Given the description of an element on the screen output the (x, y) to click on. 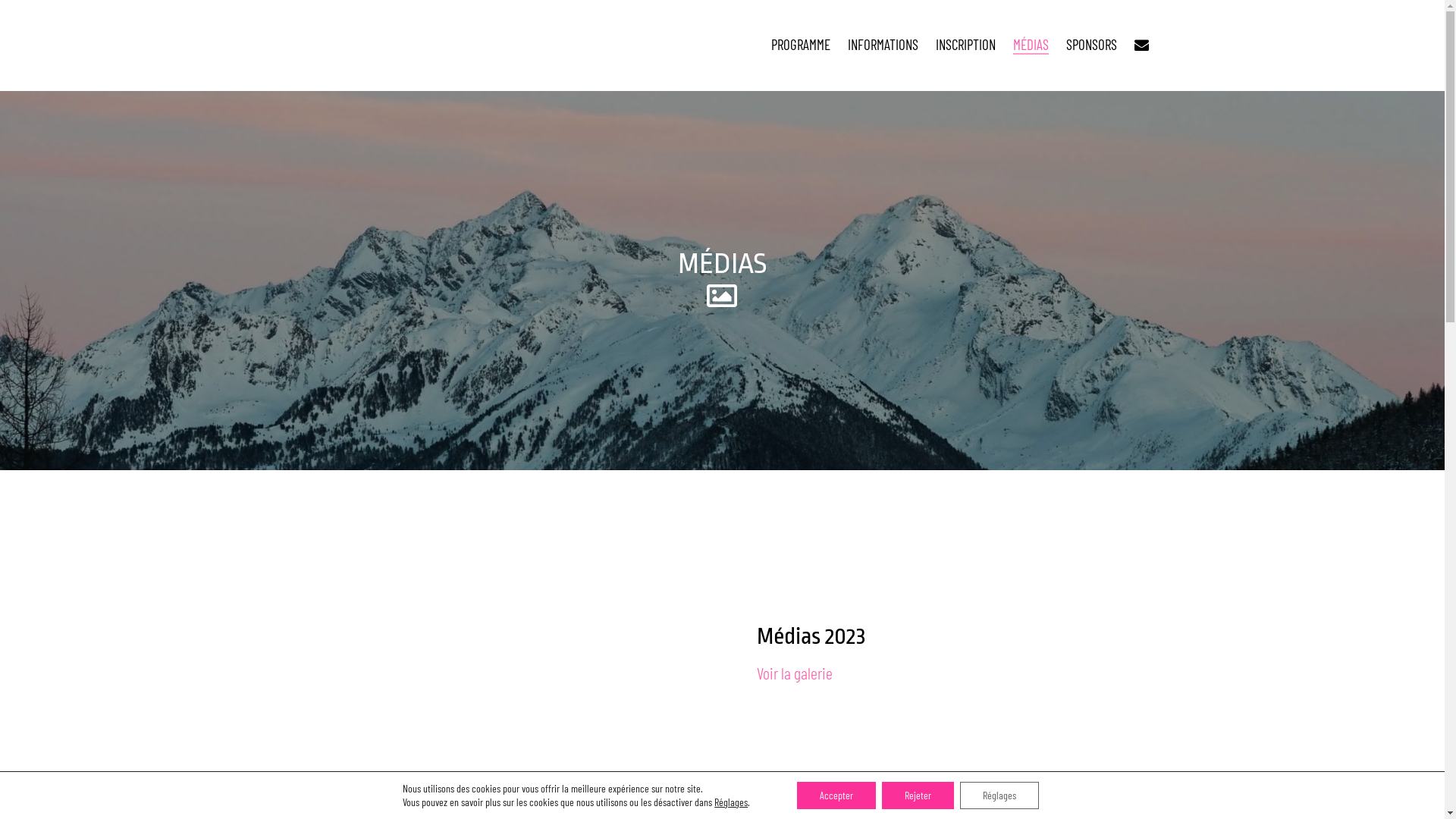
PROGRAMME Element type: text (800, 44)
SPONSORS Element type: text (1091, 44)
Accepter Element type: text (836, 795)
Voir la galerie Element type: text (794, 672)
Accueil Element type: hover (409, 45)
INFORMATIONS Element type: text (882, 44)
INSCRIPTION Element type: text (965, 44)
Rejeter Element type: text (917, 795)
